Given the description of an element on the screen output the (x, y) to click on. 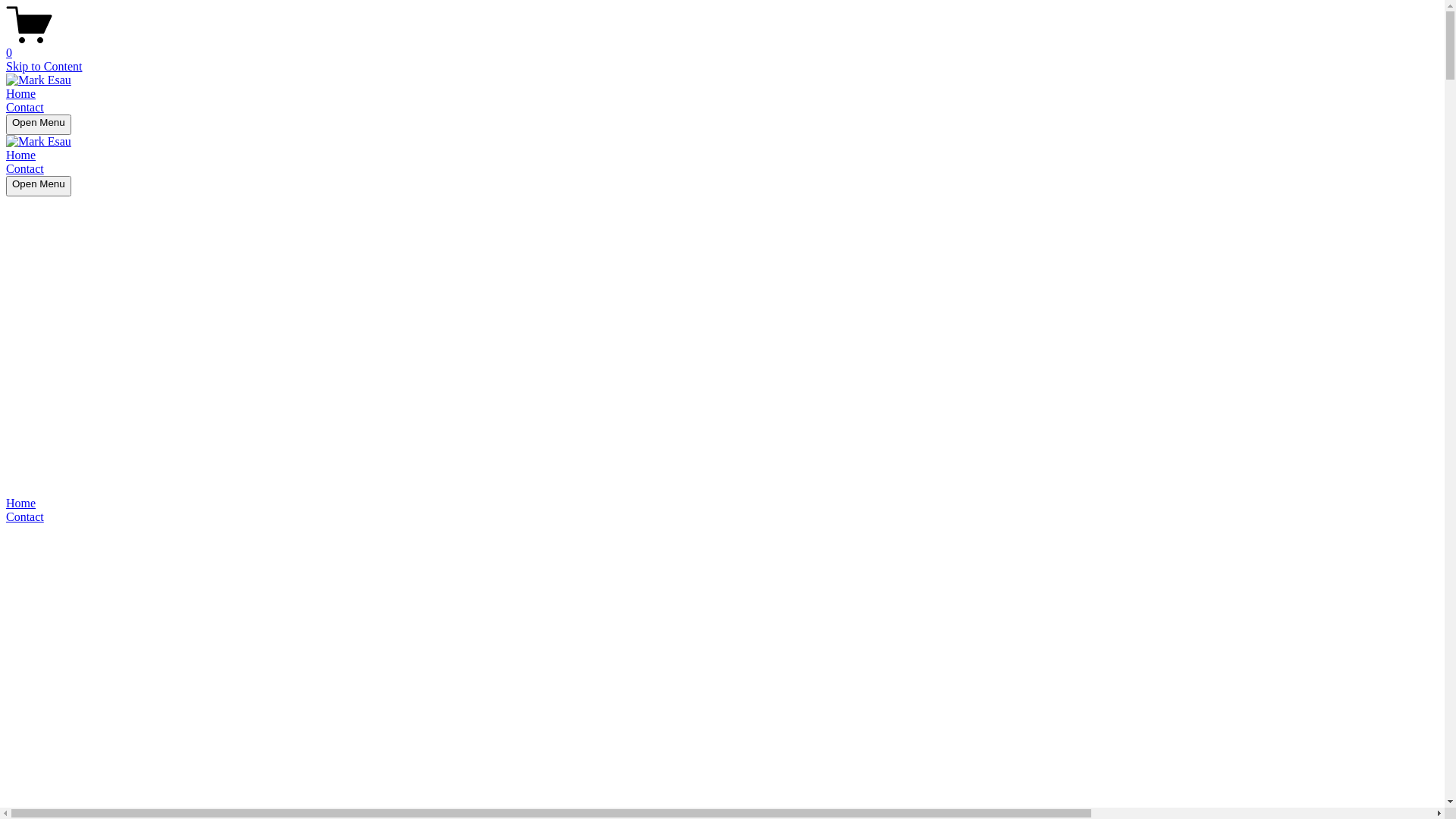
0 Element type: text (722, 45)
Contact Element type: text (722, 517)
Open Menu Element type: text (38, 124)
Skip to Content Element type: text (43, 65)
Home Element type: text (20, 154)
Home Element type: text (722, 503)
Open Menu Element type: text (38, 185)
Contact Element type: text (24, 168)
Home Element type: text (20, 93)
Contact Element type: text (24, 106)
